Given the description of an element on the screen output the (x, y) to click on. 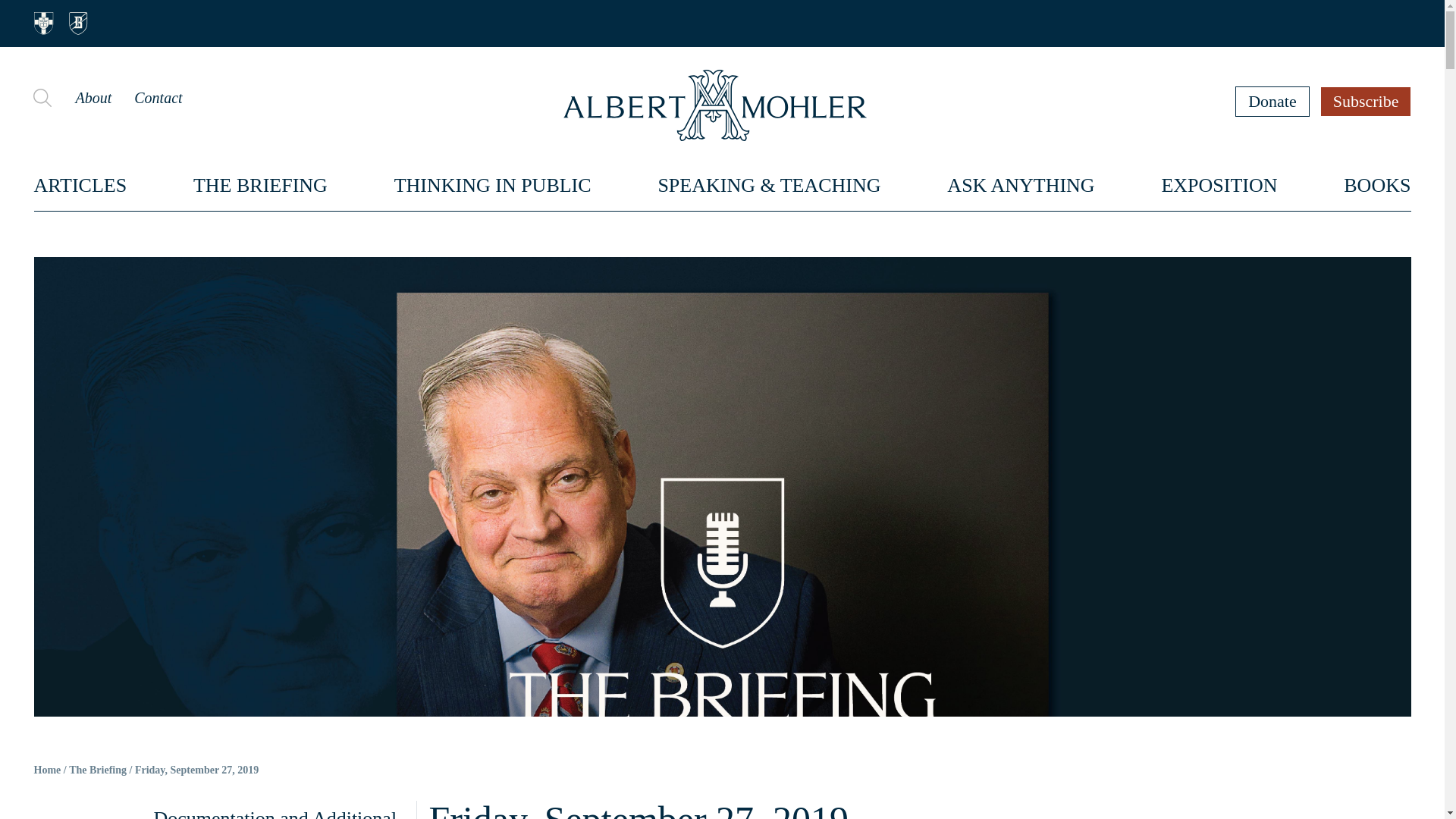
THINKING IN PUBLIC (492, 185)
ASK ANYTHING (1020, 185)
BOOKS (1376, 185)
THE BRIEFING (260, 185)
Subscribe (1366, 101)
Home (47, 770)
About (93, 97)
Donate (1272, 101)
ARTICLES (79, 185)
Contact (157, 97)
